Given the description of an element on the screen output the (x, y) to click on. 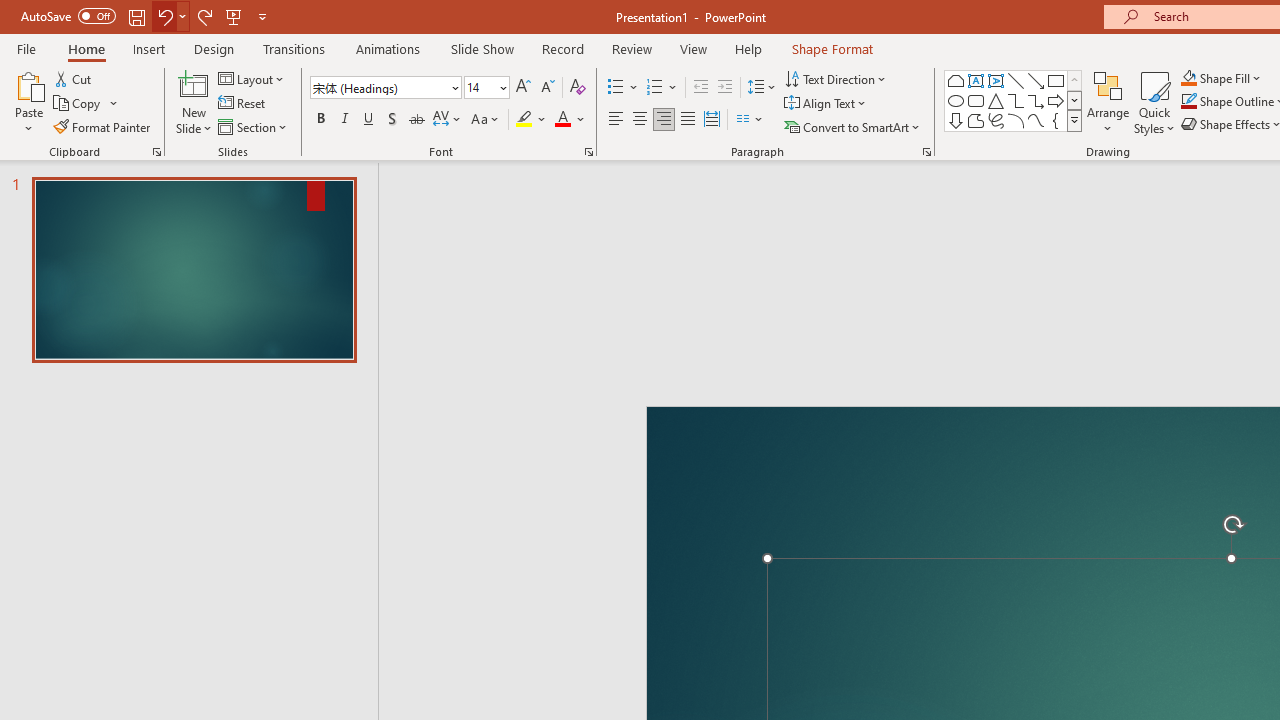
Rectangle: Top Corners Snipped (955, 80)
